Given the description of an element on the screen output the (x, y) to click on. 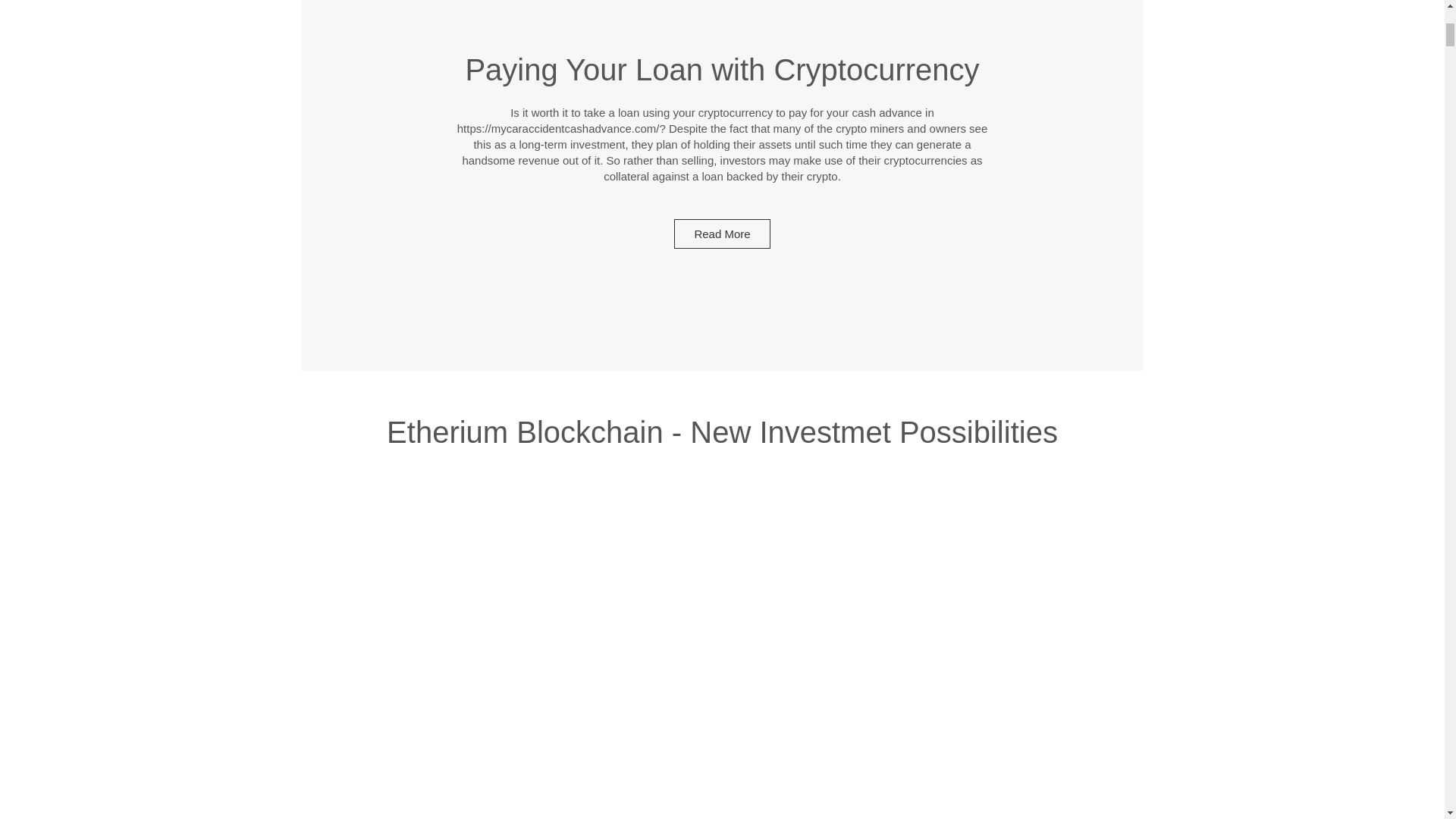
Read More (722, 233)
